Given the description of an element on the screen output the (x, y) to click on. 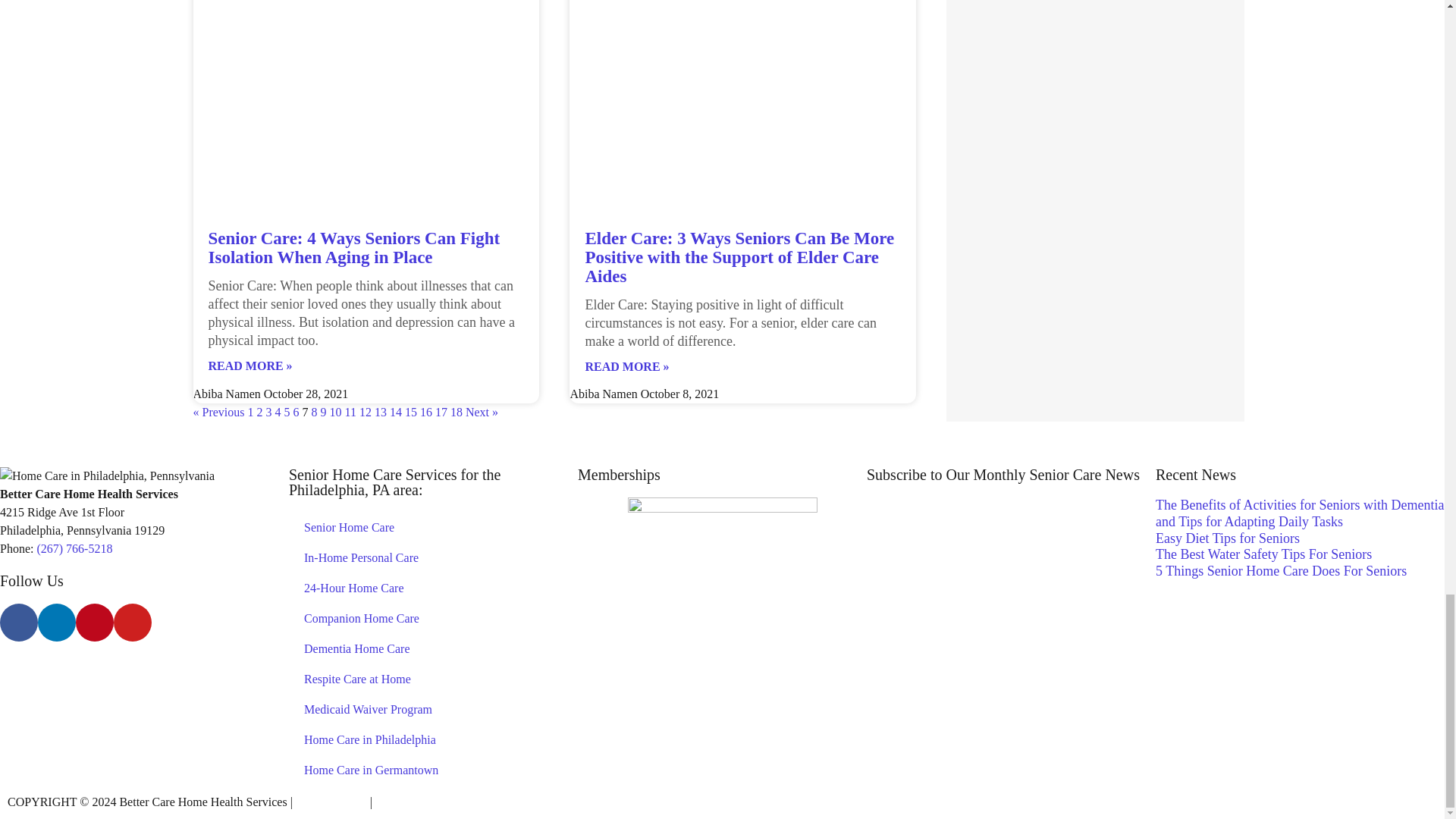
Newsletter Sign Up  (1011, 553)
